Given the description of an element on the screen output the (x, y) to click on. 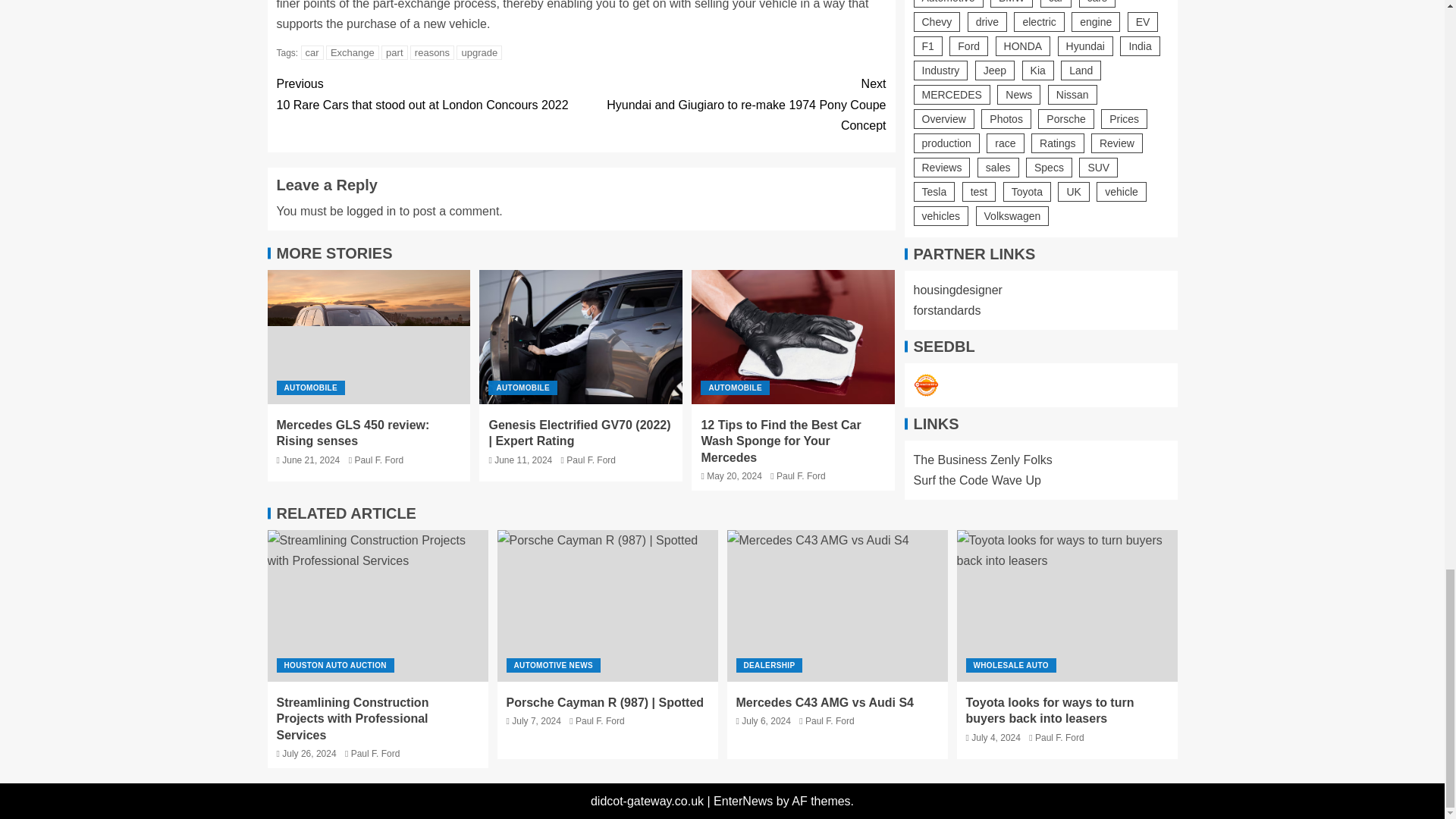
Exchange (428, 93)
Mercedes GLS 450 review: Rising senses (352, 52)
upgrade (368, 337)
car (479, 52)
part (312, 52)
12 Tips to Find the Best Car Wash Sponge for Your Mercedes (394, 52)
reasons (732, 104)
